Given the description of an element on the screen output the (x, y) to click on. 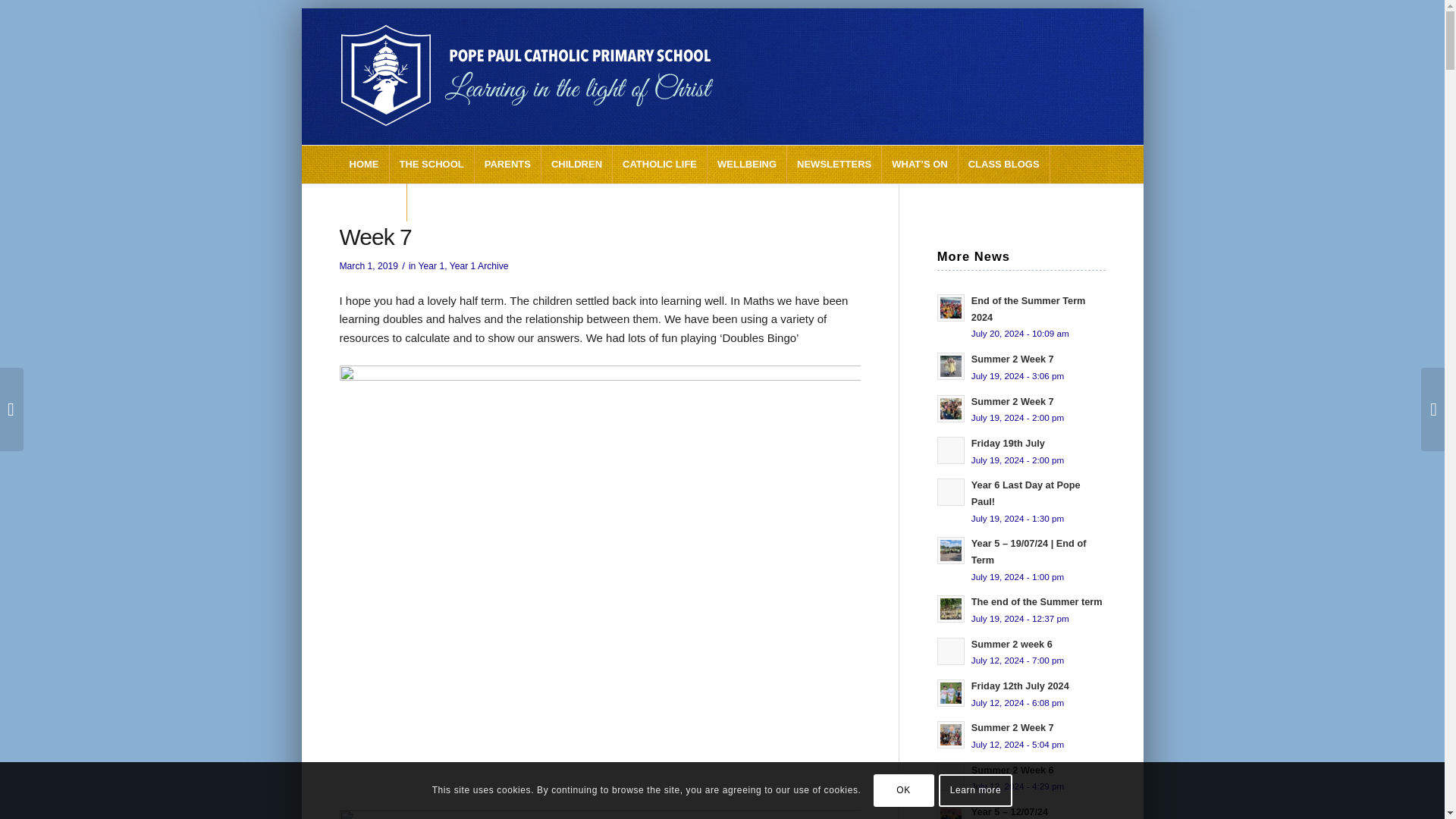
THE SCHOOL (432, 164)
HOME (364, 164)
Permanent Link: Week 7 (375, 236)
PARENTS (507, 164)
